Given the description of an element on the screen output the (x, y) to click on. 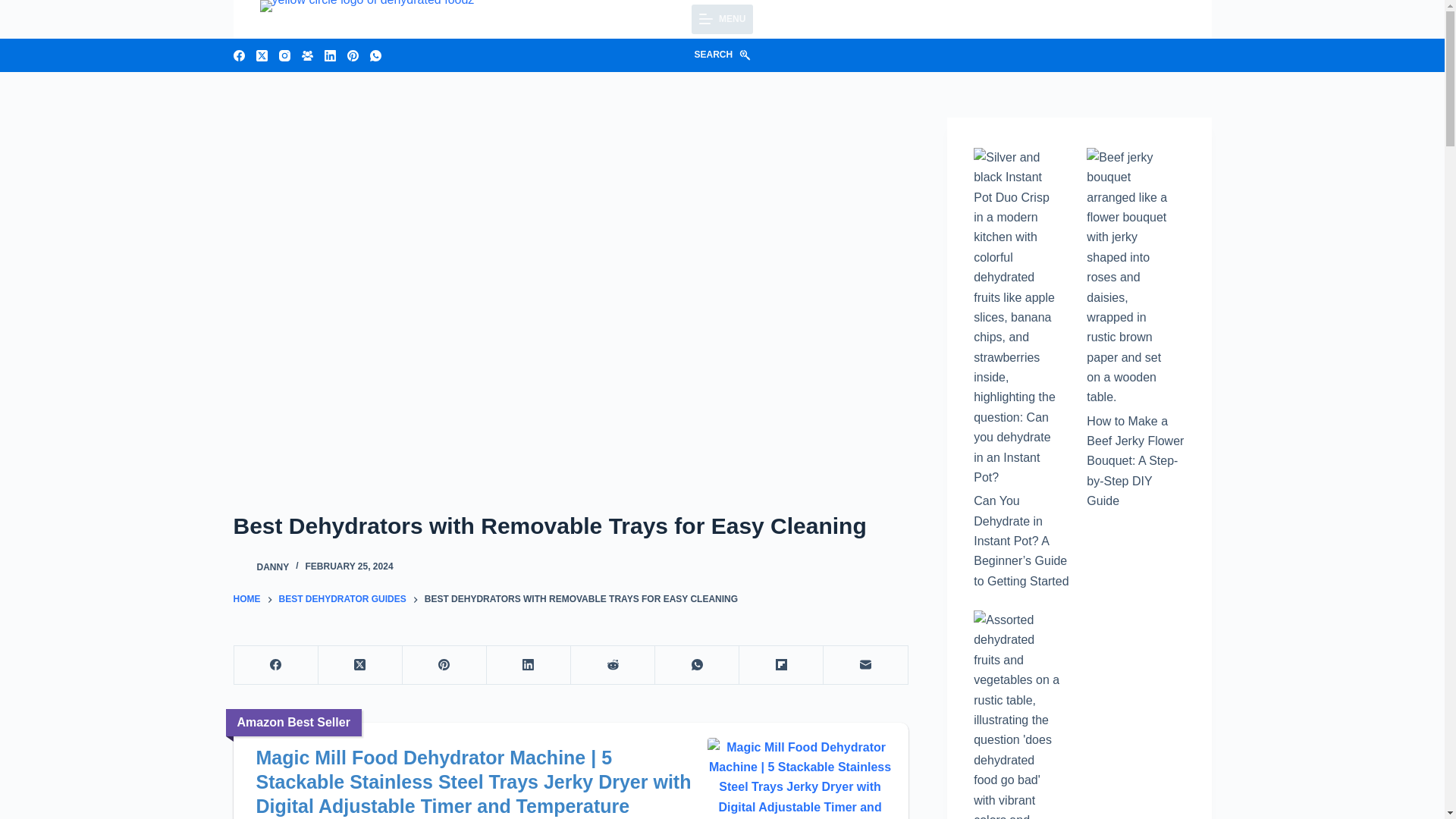
Best Dehydrators with Removable Trays for Easy Cleaning (570, 525)
Skip to content (15, 7)
Posts by Danny (272, 566)
